Given the description of an element on the screen output the (x, y) to click on. 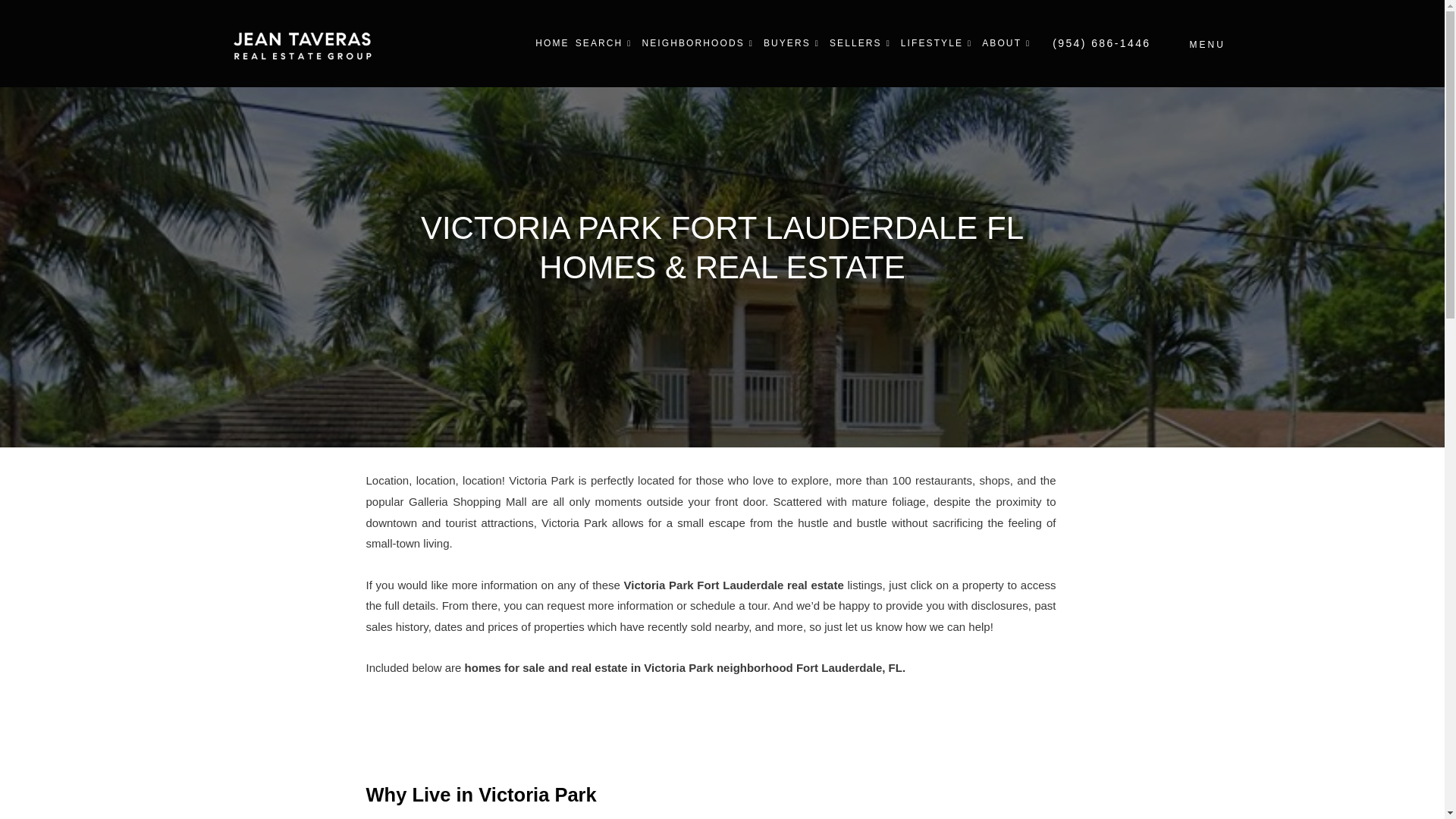
BUYERS (793, 42)
LIFESTYLE (938, 42)
SELLERS (862, 42)
HOME (552, 42)
NEIGHBORHOODS (699, 42)
SEARCH (605, 42)
